Given the description of an element on the screen output the (x, y) to click on. 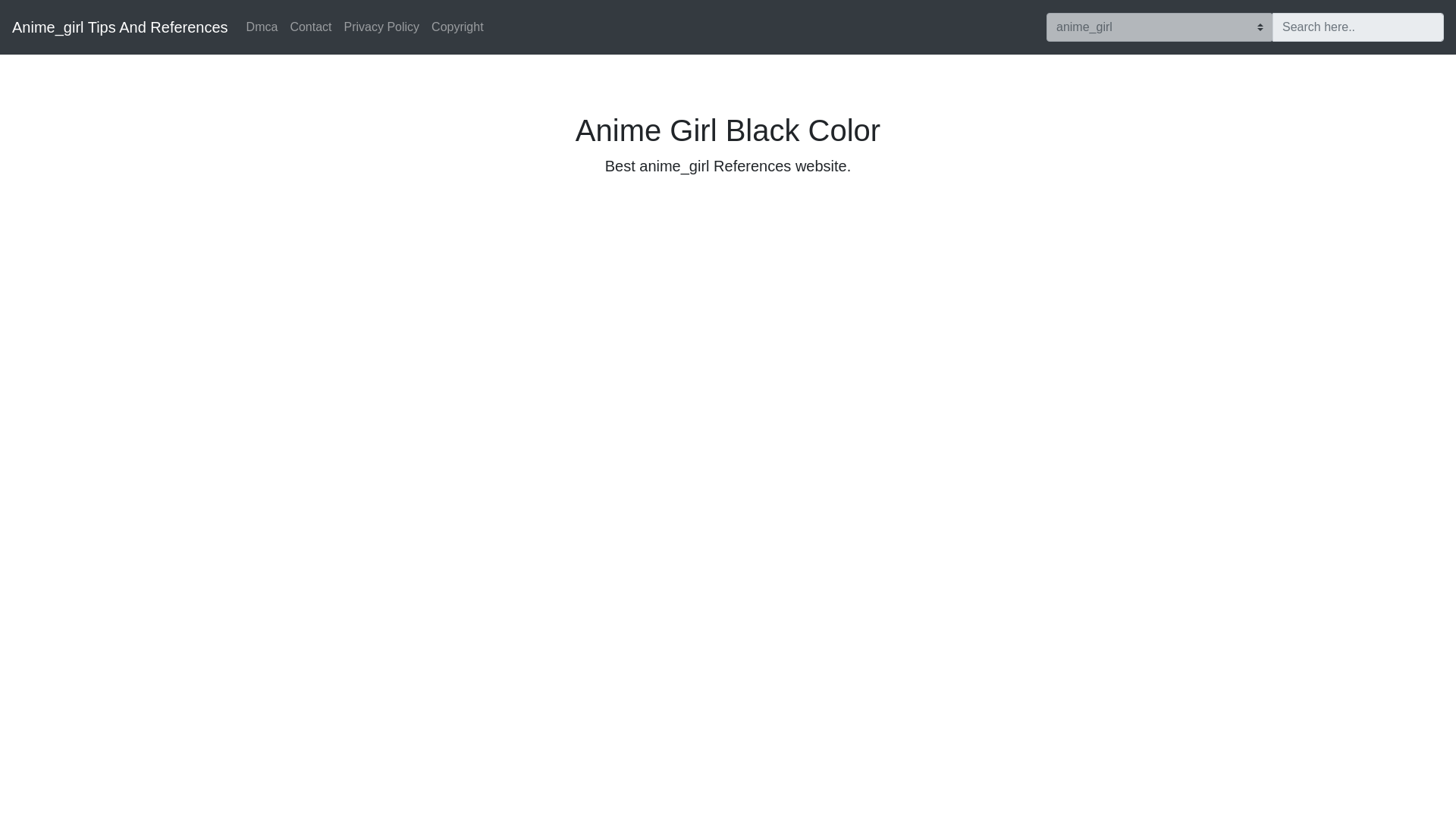
Dmca (261, 27)
Copyright (457, 27)
Privacy Policy (381, 27)
Contact (310, 27)
